Given the description of an element on the screen output the (x, y) to click on. 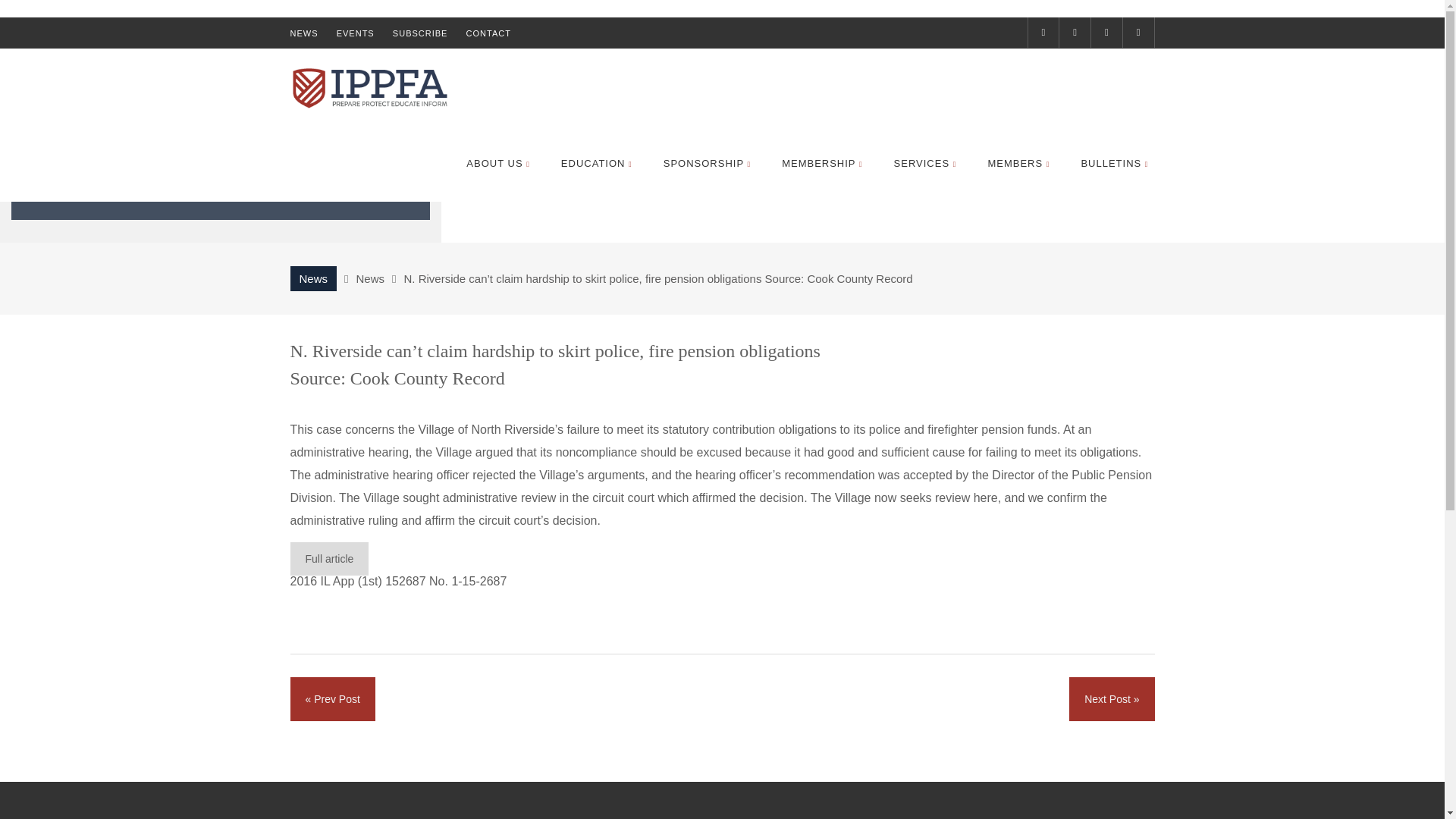
CONTACT (488, 33)
SPONSORSHIP (707, 163)
SUBSCRIBE (420, 33)
EDUCATION (595, 163)
Go to News. (312, 278)
Go to the News category archives. (370, 278)
MEMBERSHIP (821, 163)
EVENTS (355, 33)
NEWS (303, 33)
